Given the description of an element on the screen output the (x, y) to click on. 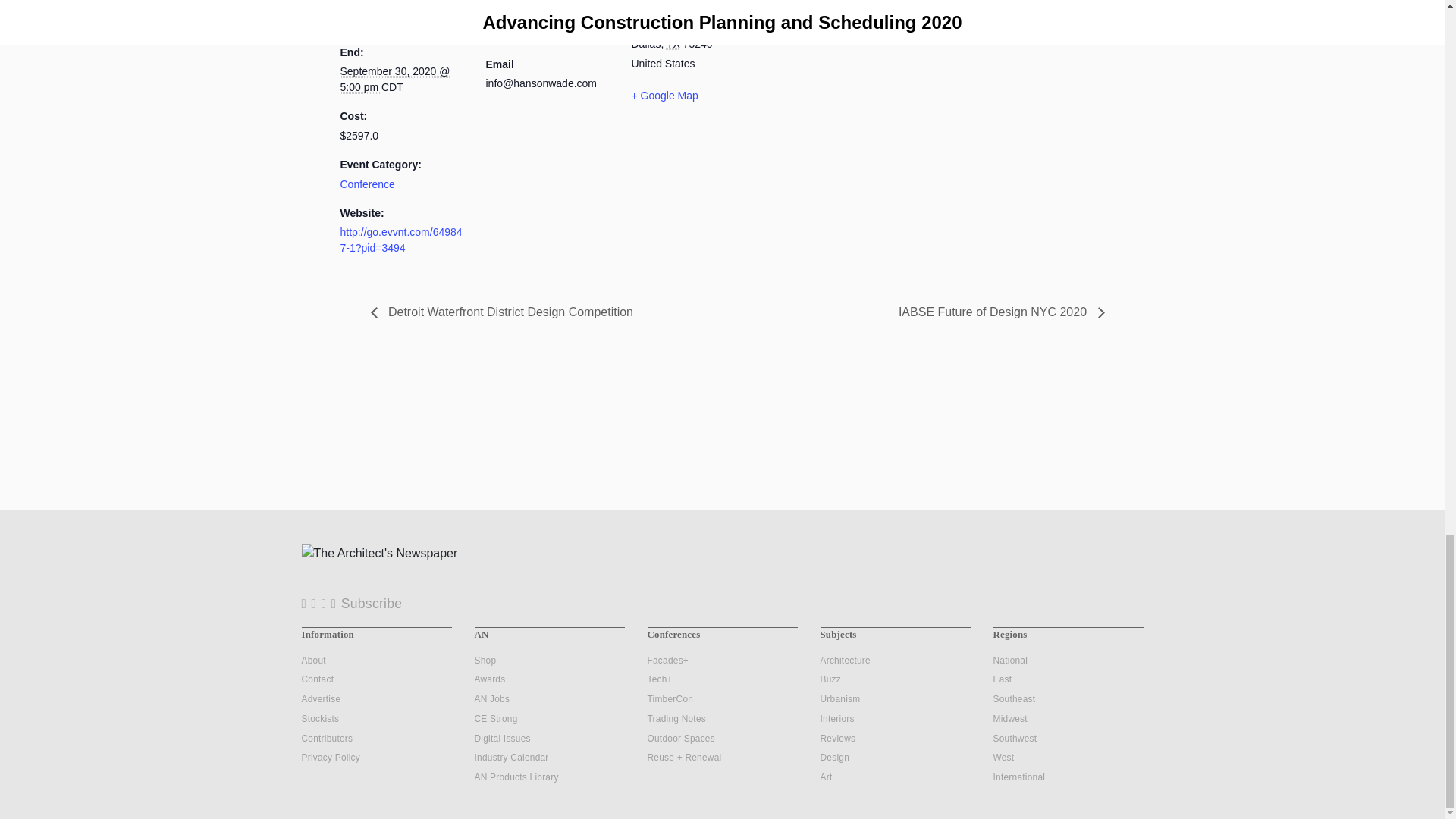
Texas (672, 43)
2020-09-30 (394, 79)
Click to view a Google Map (694, 95)
2020-09-28 (394, 15)
